Given the description of an element on the screen output the (x, y) to click on. 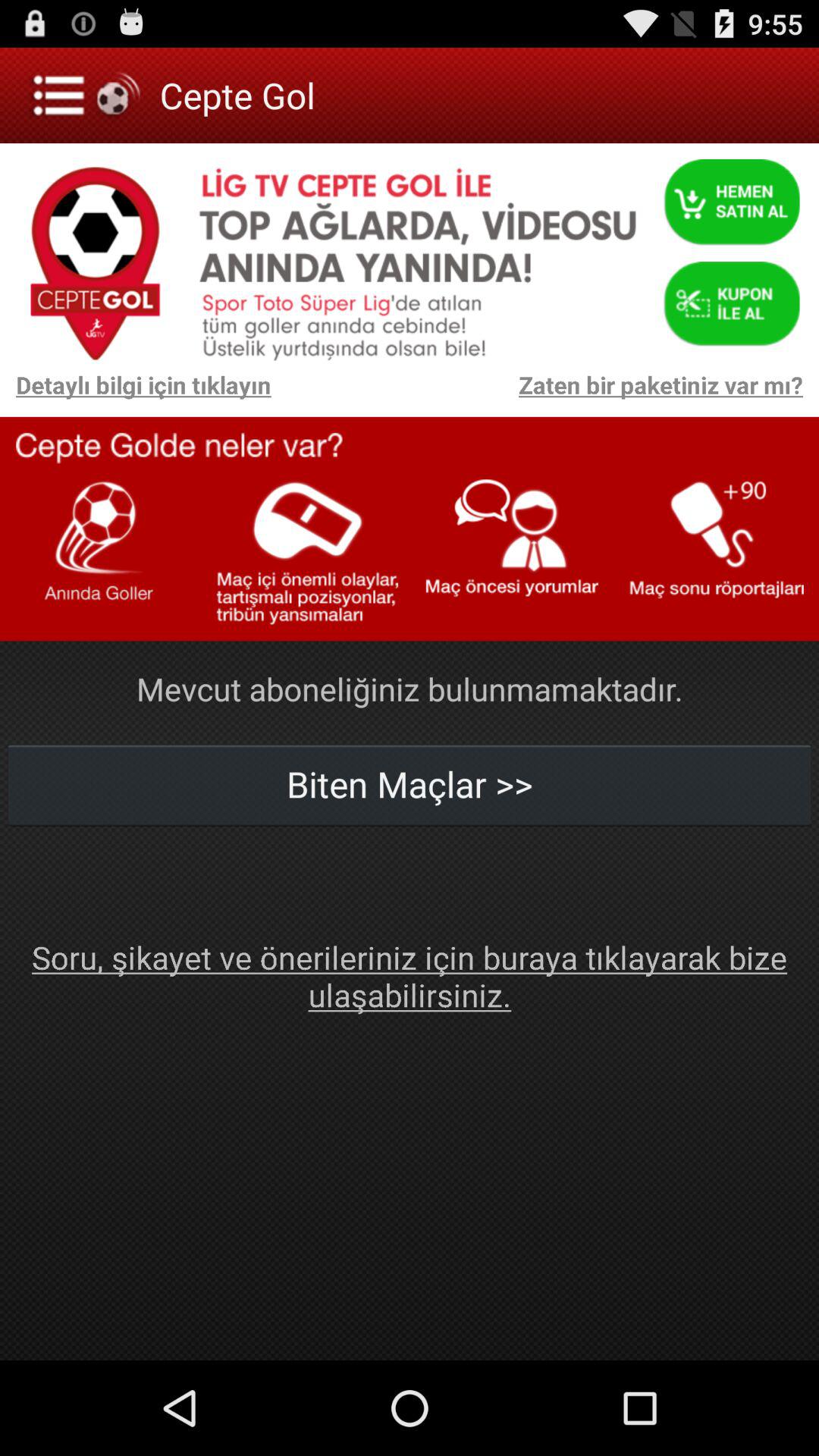
select zaten bir paketiniz app (545, 392)
